Given the description of an element on the screen output the (x, y) to click on. 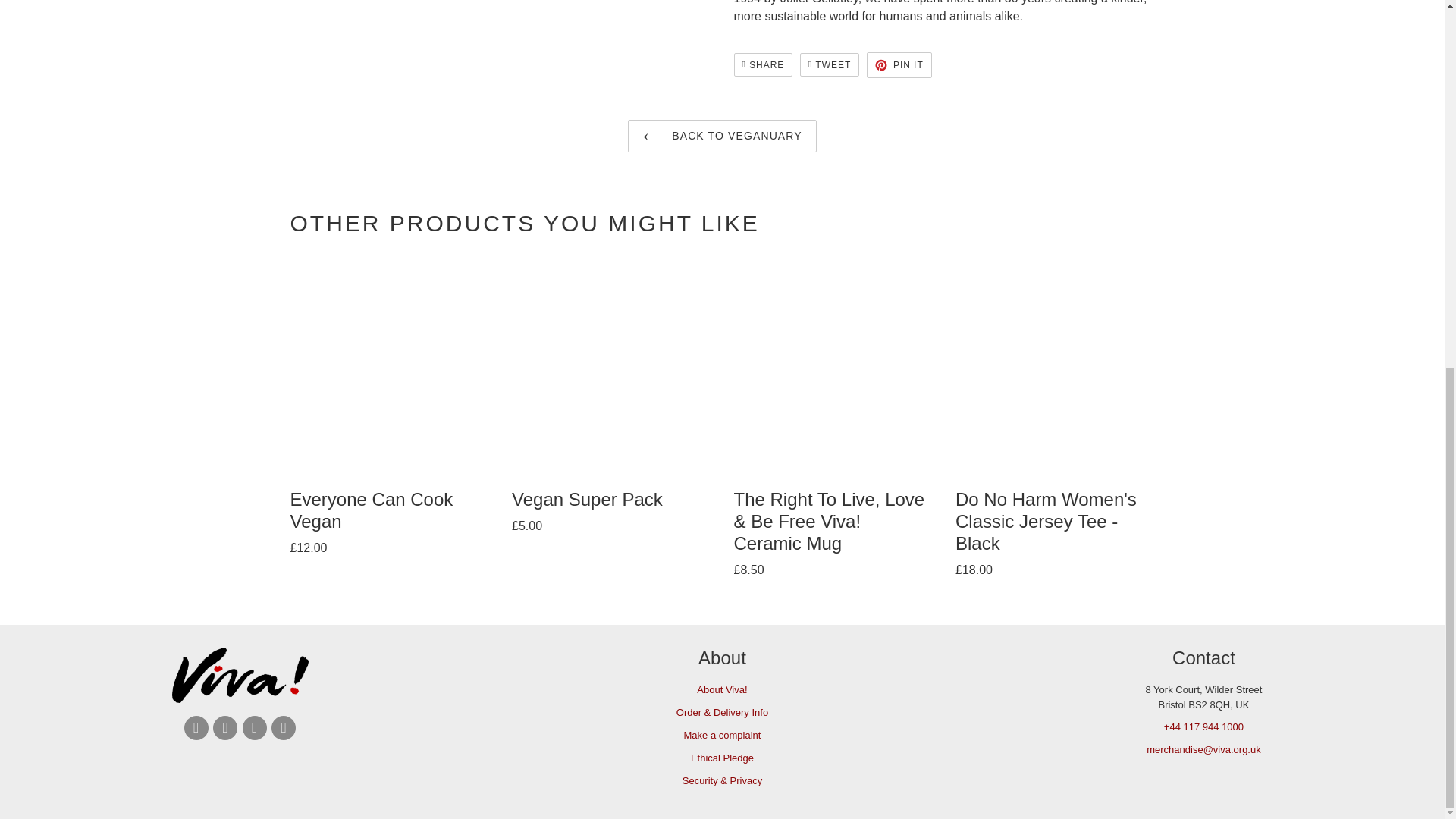
Share on Facebook (763, 64)
Pin on Pinterest (898, 64)
Tweet on Twitter (829, 64)
